Given the description of an element on the screen output the (x, y) to click on. 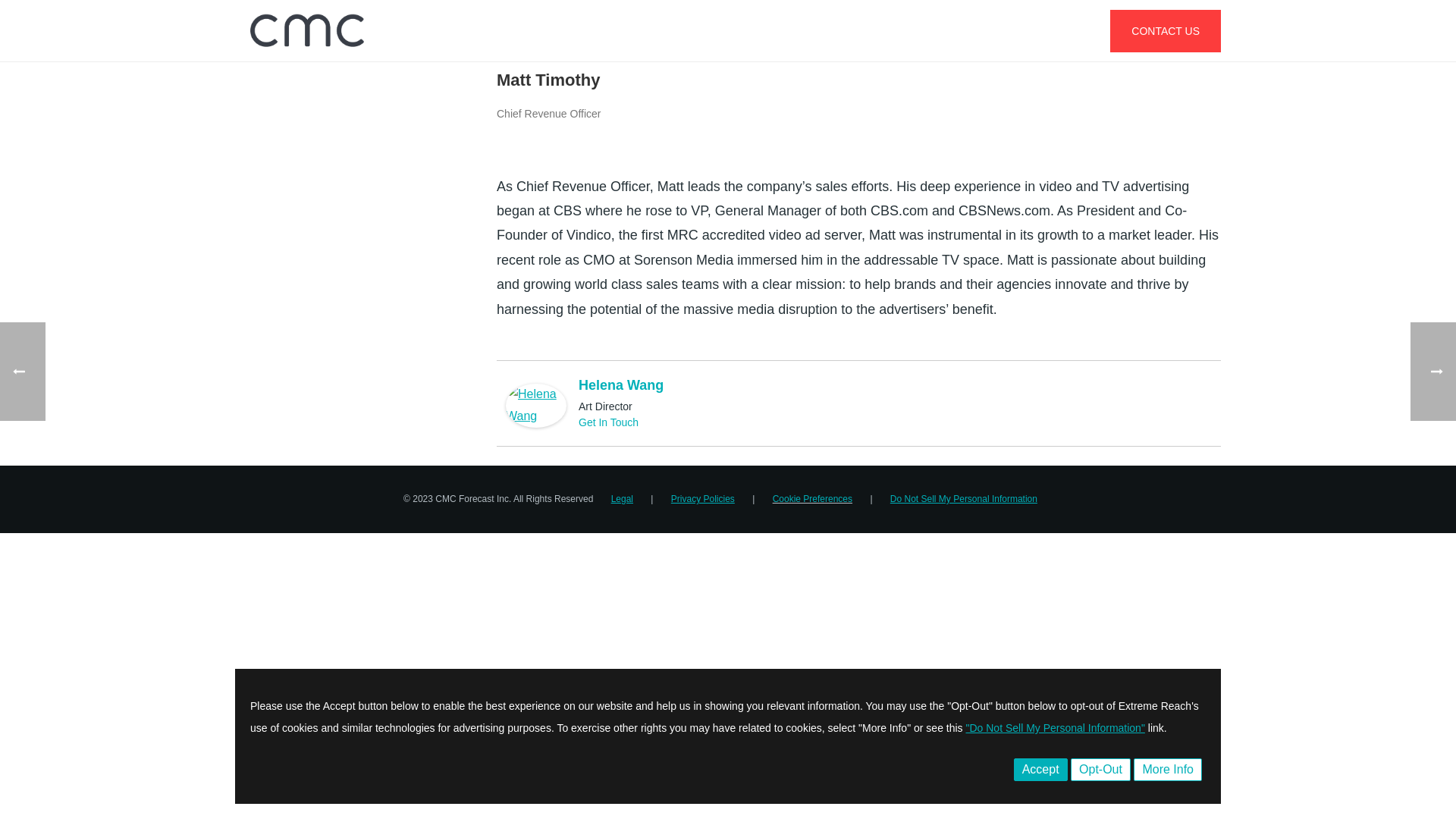
CONTACT US (1165, 30)
Accept (1040, 769)
Cookie Preferences (812, 498)
CMC (306, 30)
Do Not Sell My Personal Information (962, 498)
Opt-Out (1100, 769)
Privacy Policies (703, 498)
More Info (1168, 769)
Helena Wang (620, 385)
Helena Wang (535, 404)
Legal (622, 498)
Get In Touch (608, 422)
"Do Not Sell My Personal Information" (1055, 727)
